Given the description of an element on the screen output the (x, y) to click on. 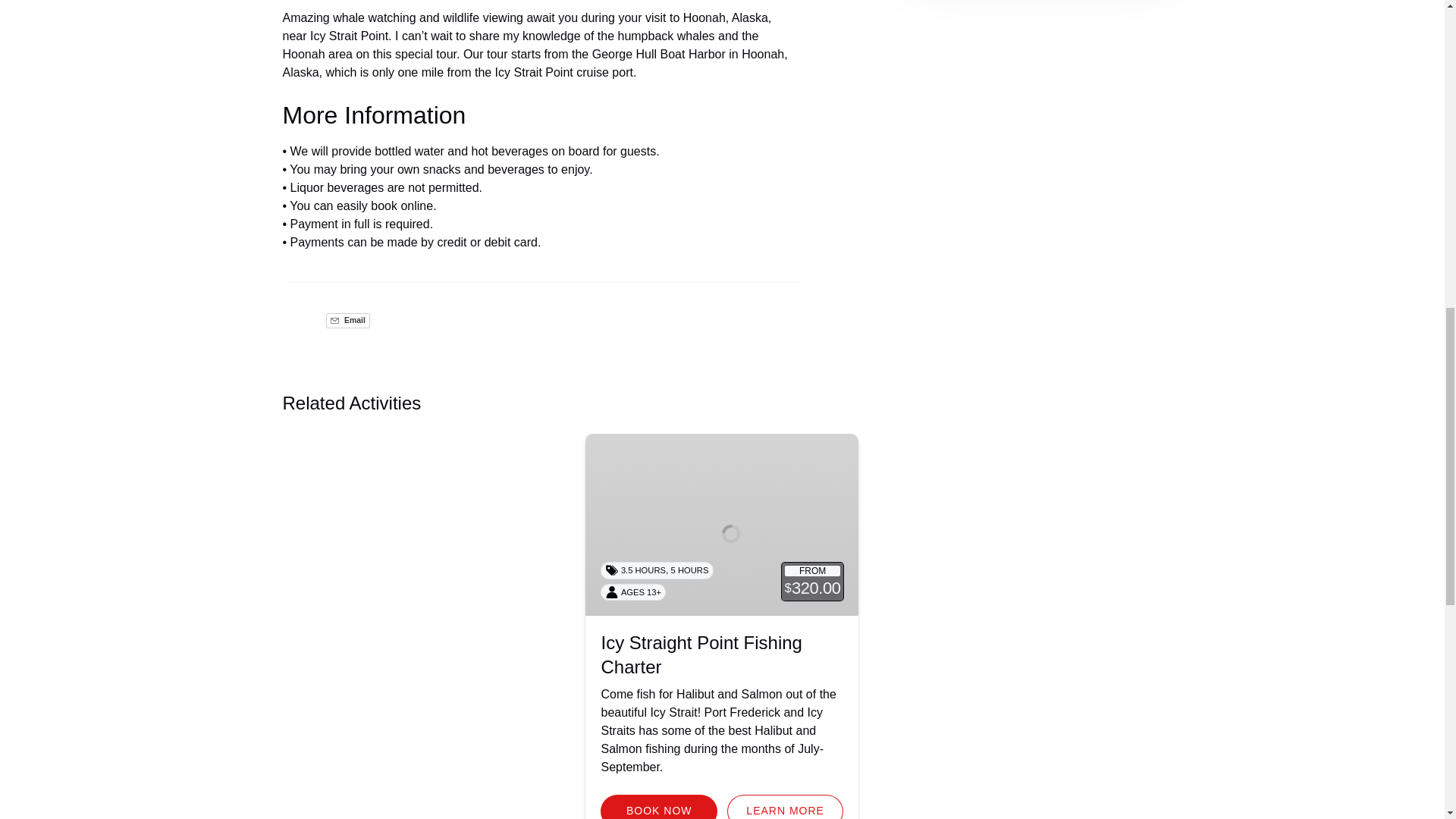
Email this page to a friend. (347, 320)
LEARN MORE (785, 806)
BOOK NOW (658, 806)
Icy Straight Point Fishing Charter (700, 654)
Email (347, 320)
FareHarbor (1342, 64)
